Given the description of an element on the screen output the (x, y) to click on. 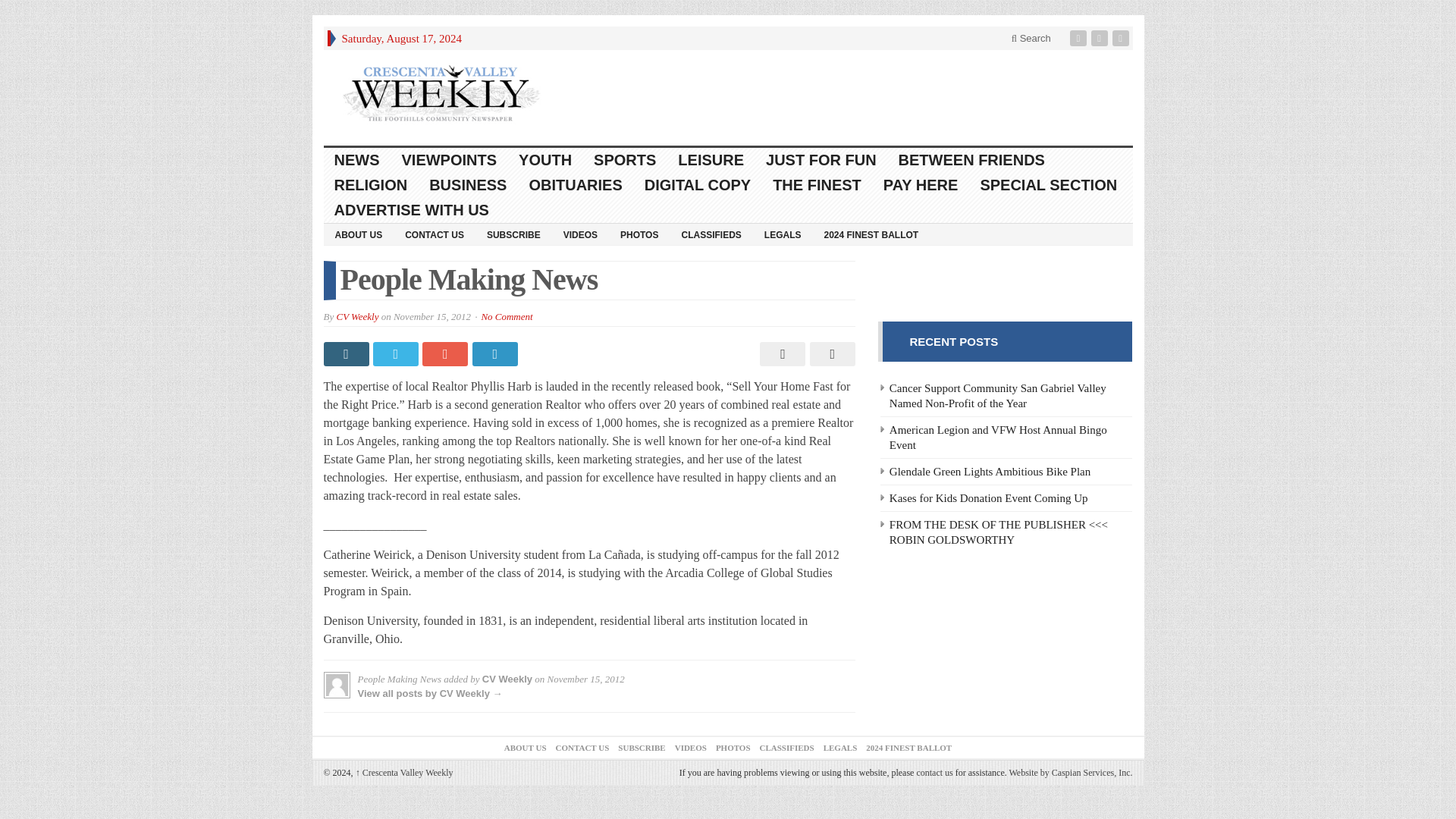
DIGITAL COPY (697, 185)
ABOUT US (358, 233)
Facebook (1079, 37)
Site feed (1122, 37)
Search (1031, 37)
THE FINEST (816, 185)
OBITUARIES (575, 185)
PHOTOS (638, 233)
SPORTS (624, 160)
2024 FINEST BALLOT (871, 233)
